Given the description of an element on the screen output the (x, y) to click on. 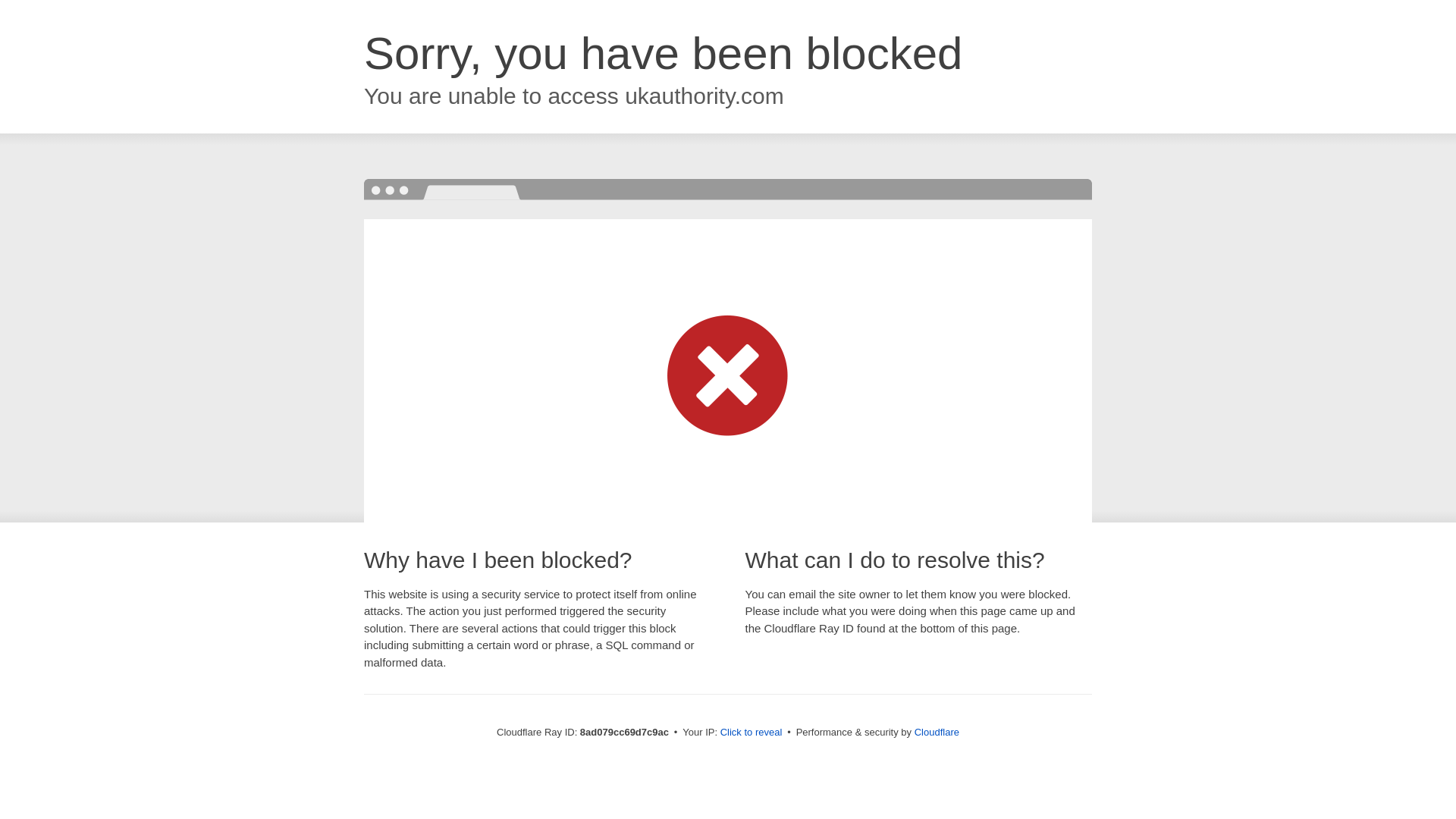
Click to reveal (751, 732)
Cloudflare (936, 731)
